Given the description of an element on the screen output the (x, y) to click on. 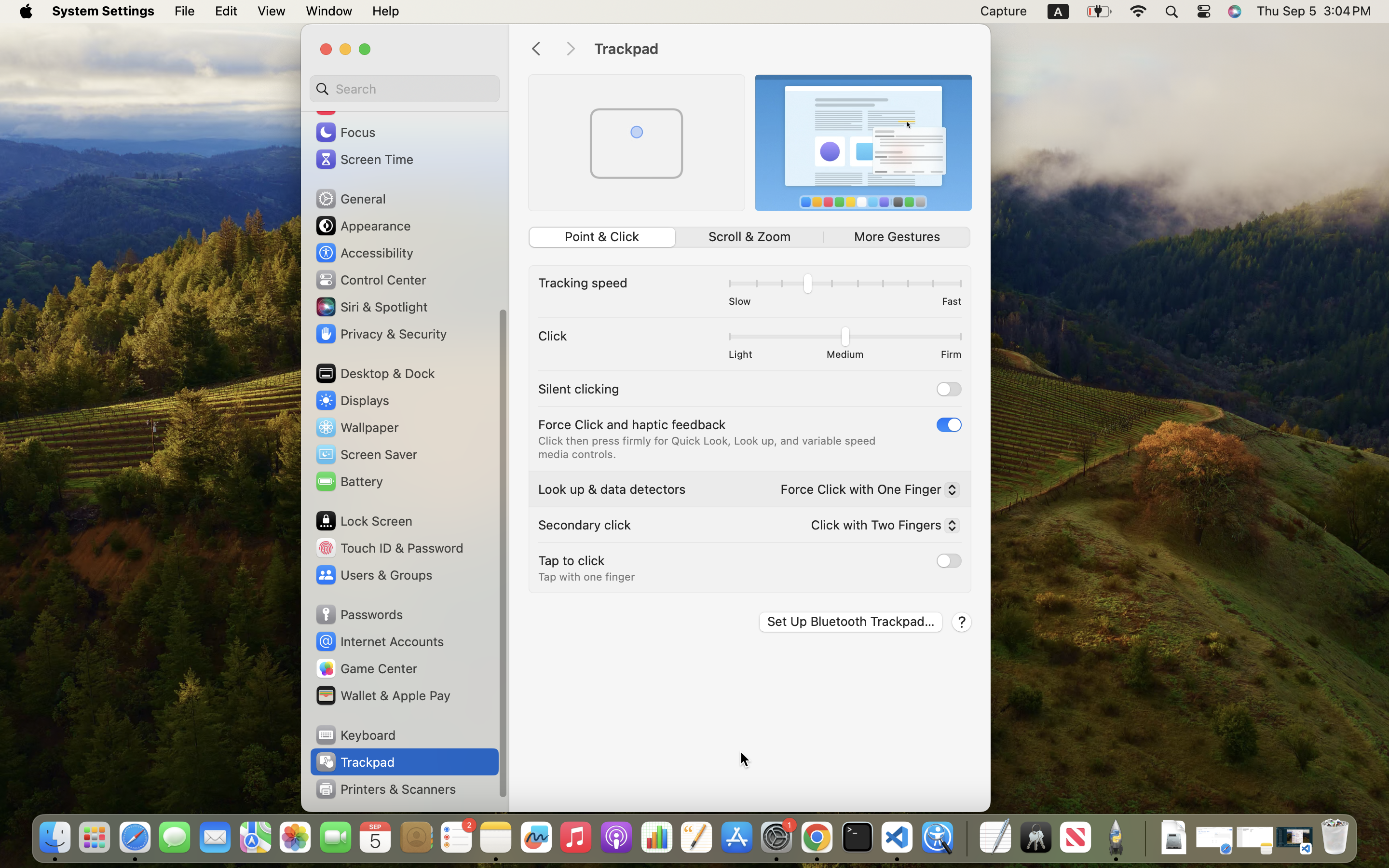
Lock Screen Element type: AXStaticText (363, 520)
Sound Element type: AXStaticText (346, 104)
Trackpad Element type: AXStaticText (782, 49)
Appearance Element type: AXStaticText (362, 225)
Tracking speed Element type: AXStaticText (582, 282)
